Given the description of an element on the screen output the (x, y) to click on. 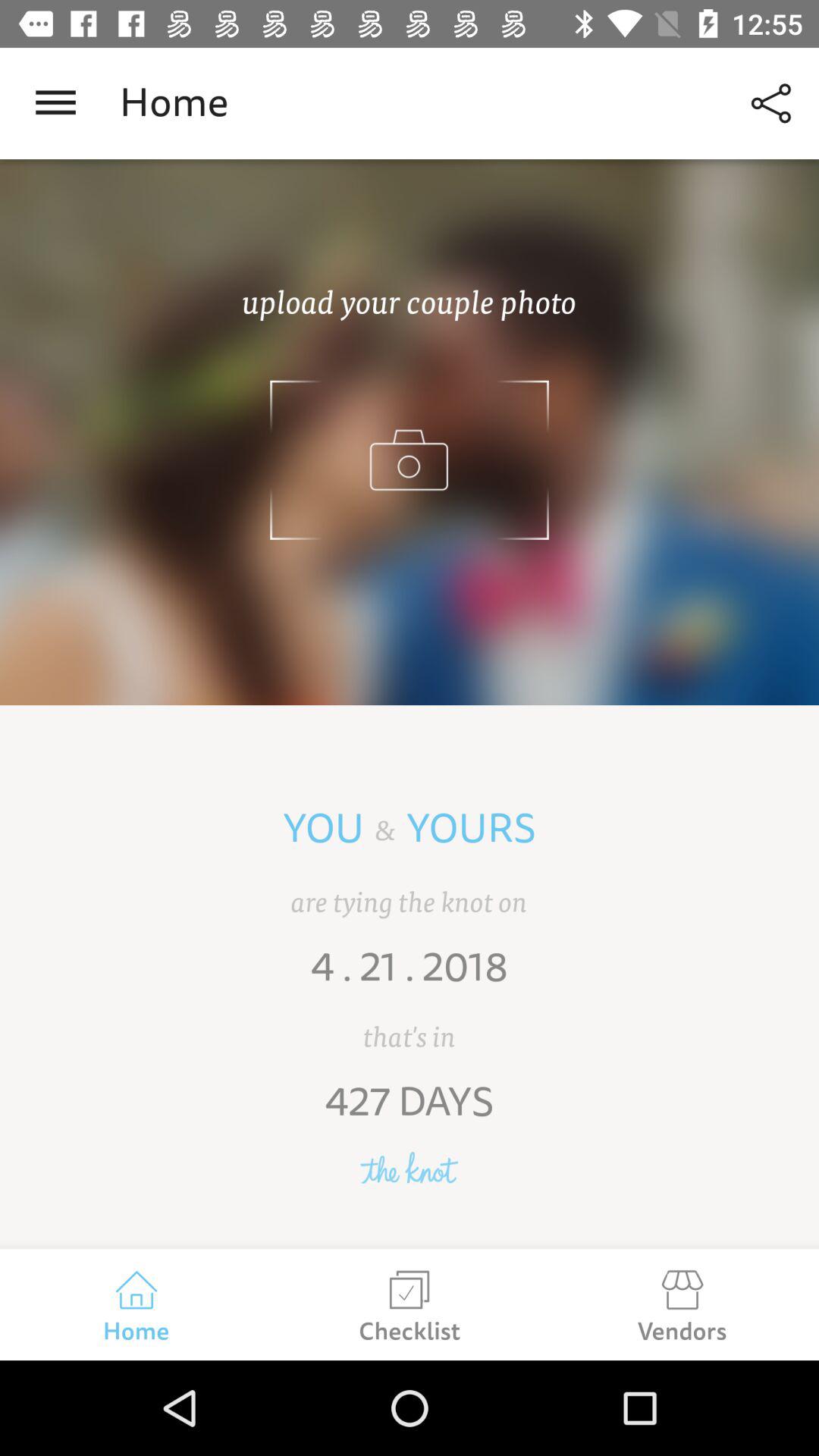
jump to the 427 days icon (409, 1112)
